Given the description of an element on the screen output the (x, y) to click on. 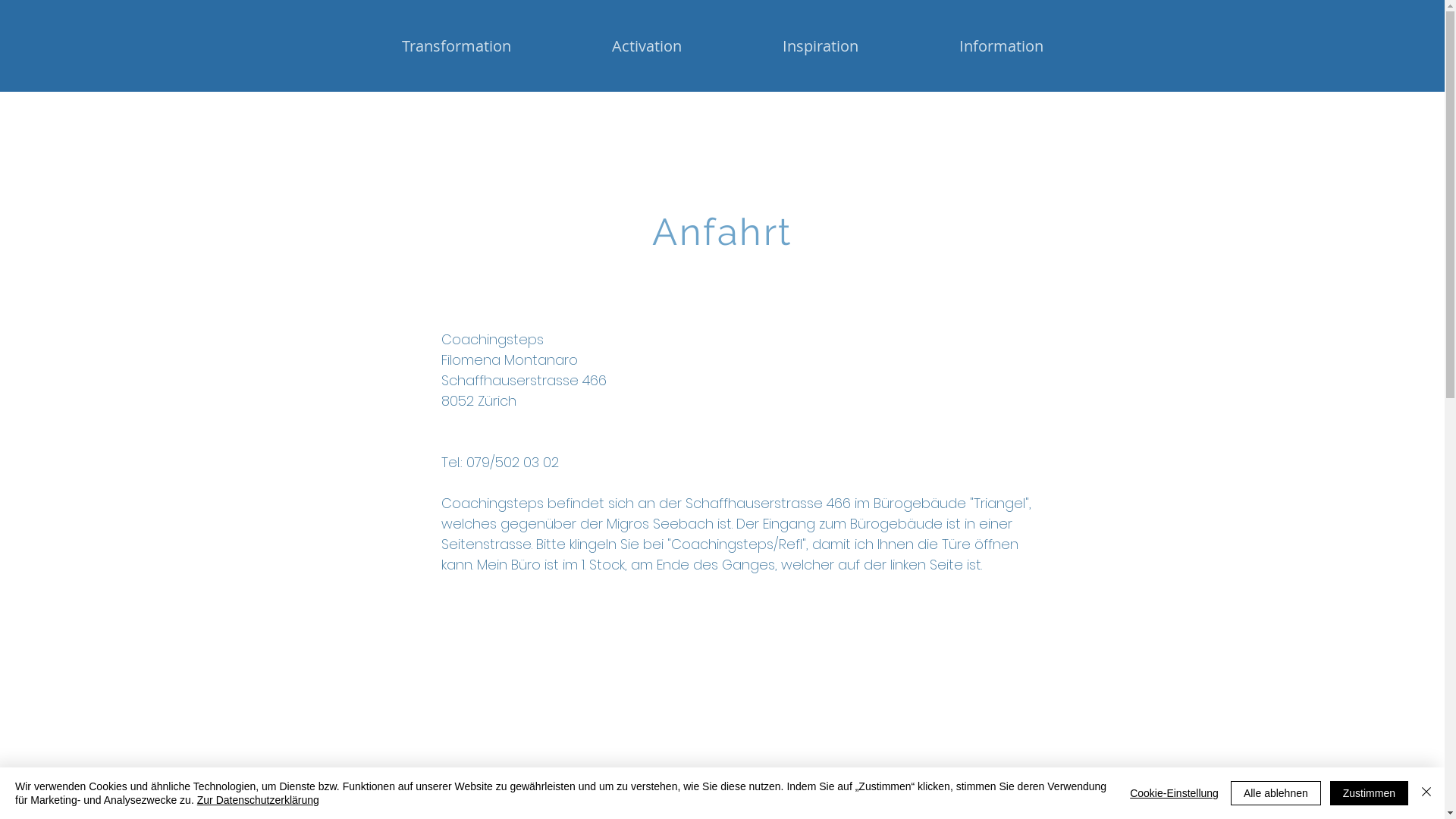
Transformation Element type: text (455, 45)
Inspiration Element type: text (820, 45)
Zustimmen Element type: text (1369, 793)
Activation Element type: text (646, 45)
Alle ablehnen Element type: text (1275, 793)
